Given the description of an element on the screen output the (x, y) to click on. 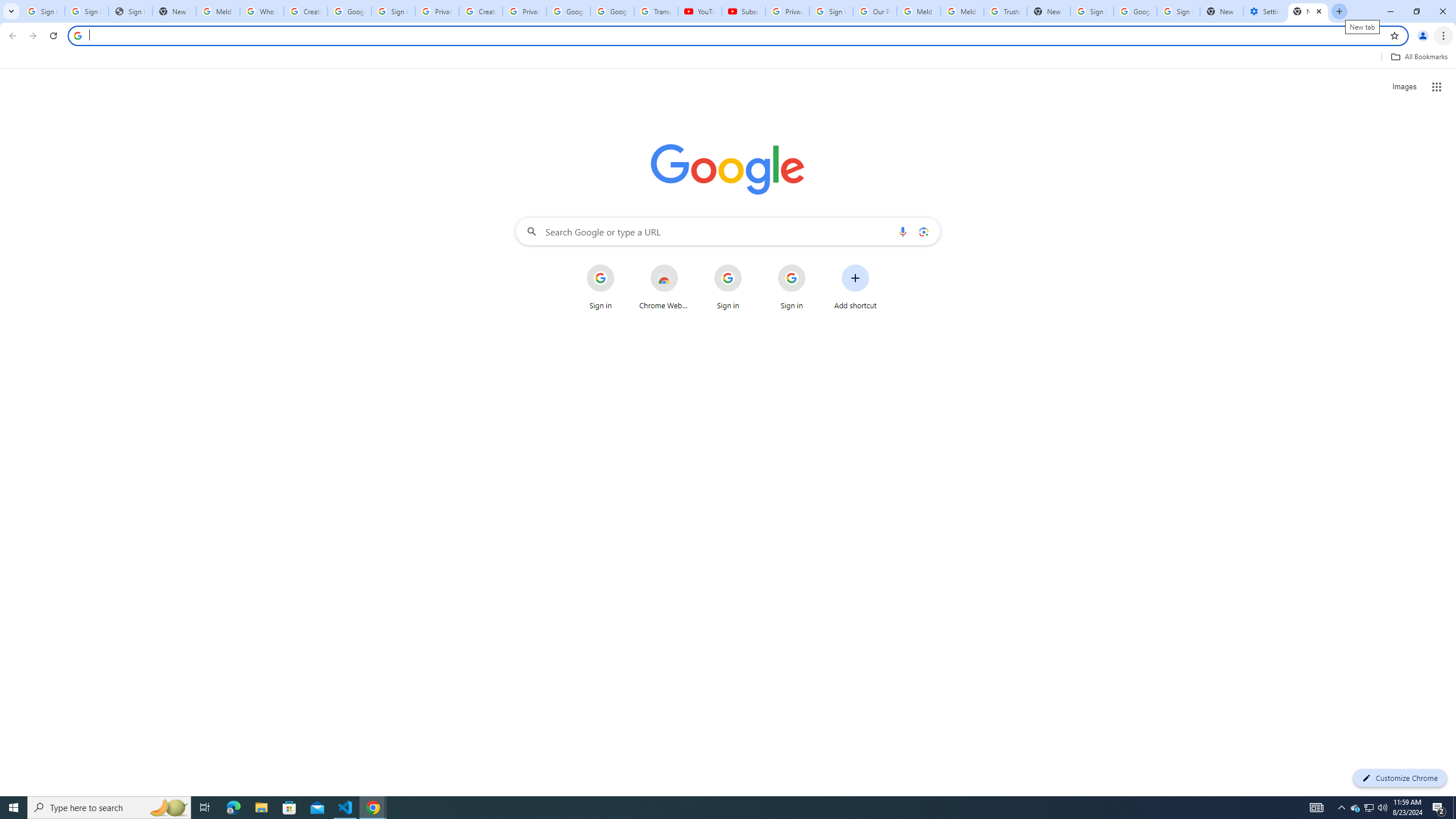
More actions for Sign in shortcut (814, 265)
Who is my administrator? - Google Account Help (261, 11)
Add shortcut (855, 287)
Google Account (612, 11)
Create your Google Account (305, 11)
Chrome Web Store (663, 287)
